Given the description of an element on the screen output the (x, y) to click on. 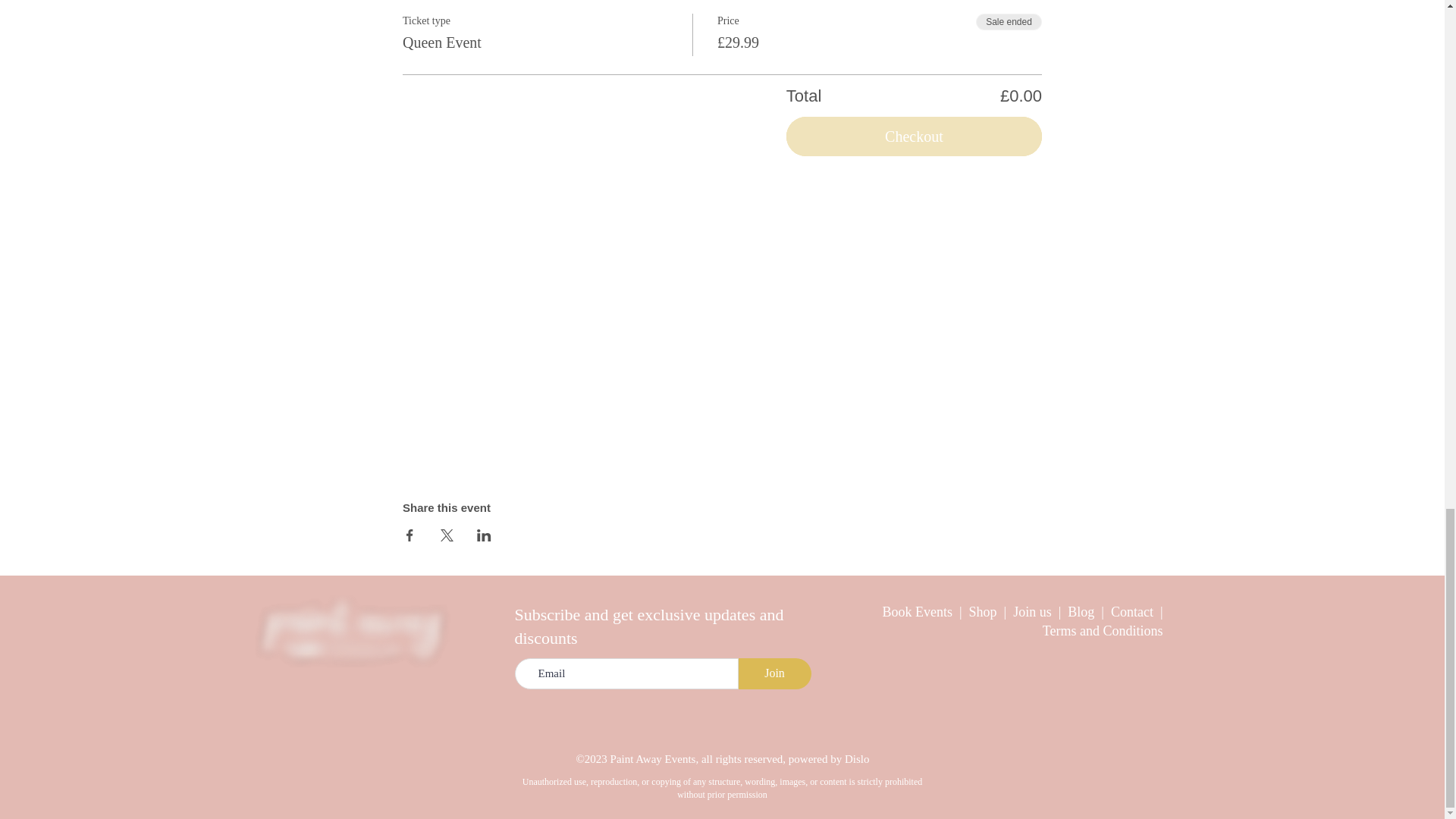
Checkout (914, 136)
Blog  (1083, 611)
Dislo (856, 758)
Terms and Conditions (1102, 630)
Book Events  (918, 611)
Join us (1032, 611)
Shop  (986, 611)
Join (774, 673)
